Given the description of an element on the screen output the (x, y) to click on. 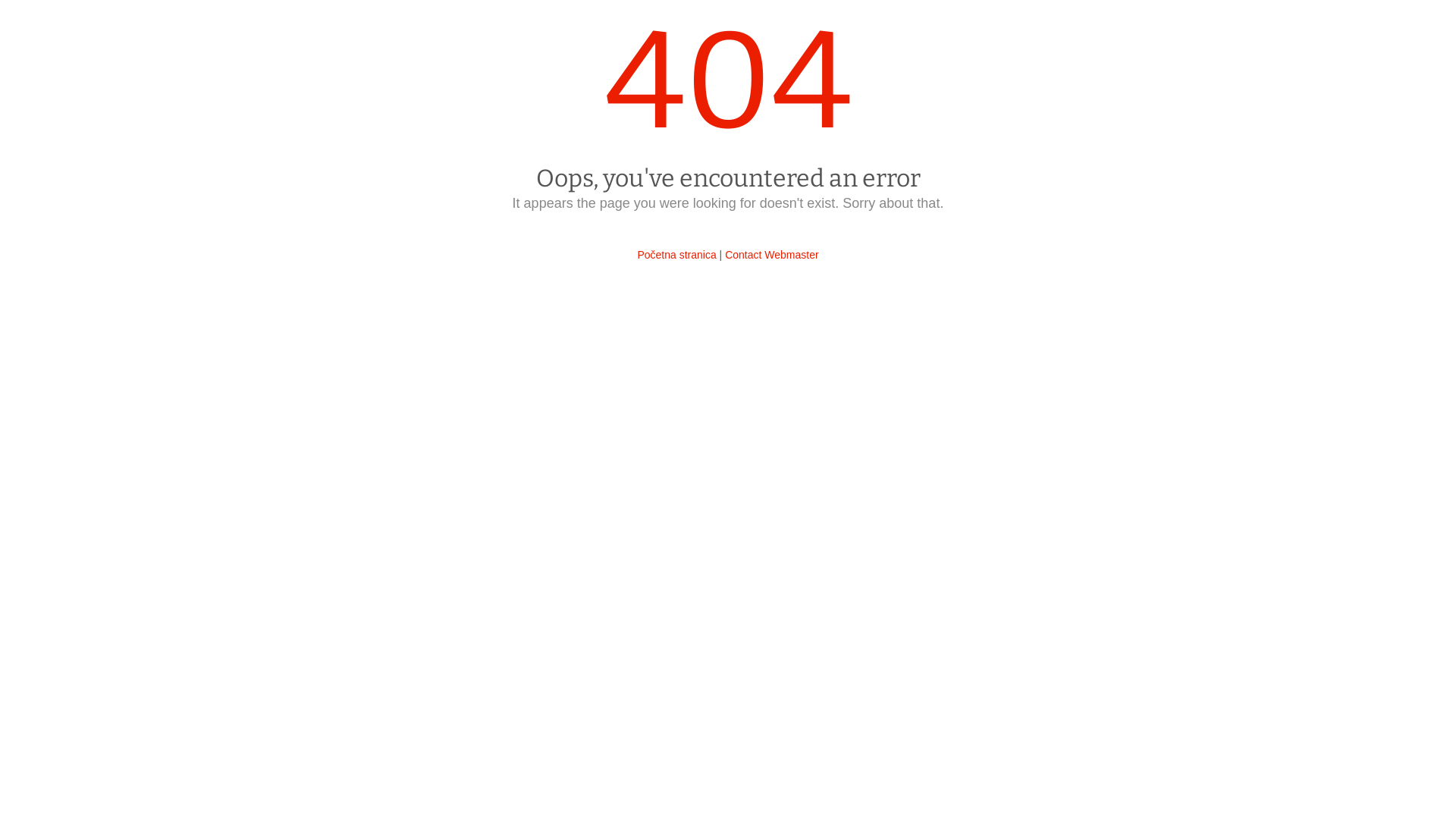
Contact Webmaster Element type: text (771, 254)
